Given the description of an element on the screen output the (x, y) to click on. 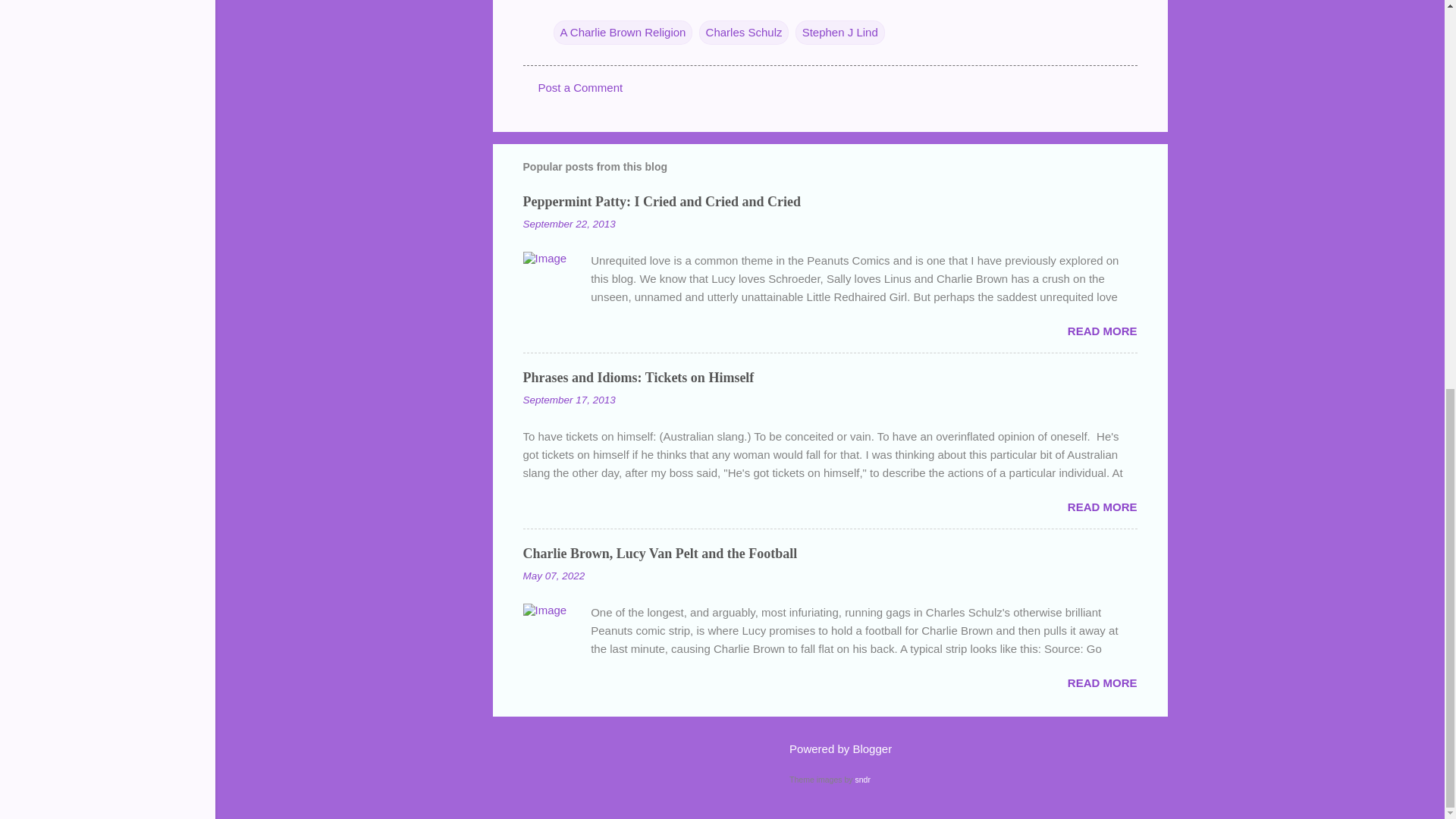
READ MORE (1102, 506)
sndr (861, 778)
Charlie Brown, Lucy Van Pelt and the Football (659, 553)
READ MORE (1102, 682)
A Charlie Brown Religion (623, 32)
Post a Comment (580, 87)
Email Post (562, 3)
Phrases and Idioms: Tickets on Himself (638, 377)
Powered by Blogger (829, 748)
Charles Schulz (743, 32)
September 17, 2013 (568, 399)
May 07, 2022 (553, 575)
READ MORE (1102, 330)
Stephen J Lind (839, 32)
permanent link (568, 224)
